Given the description of an element on the screen output the (x, y) to click on. 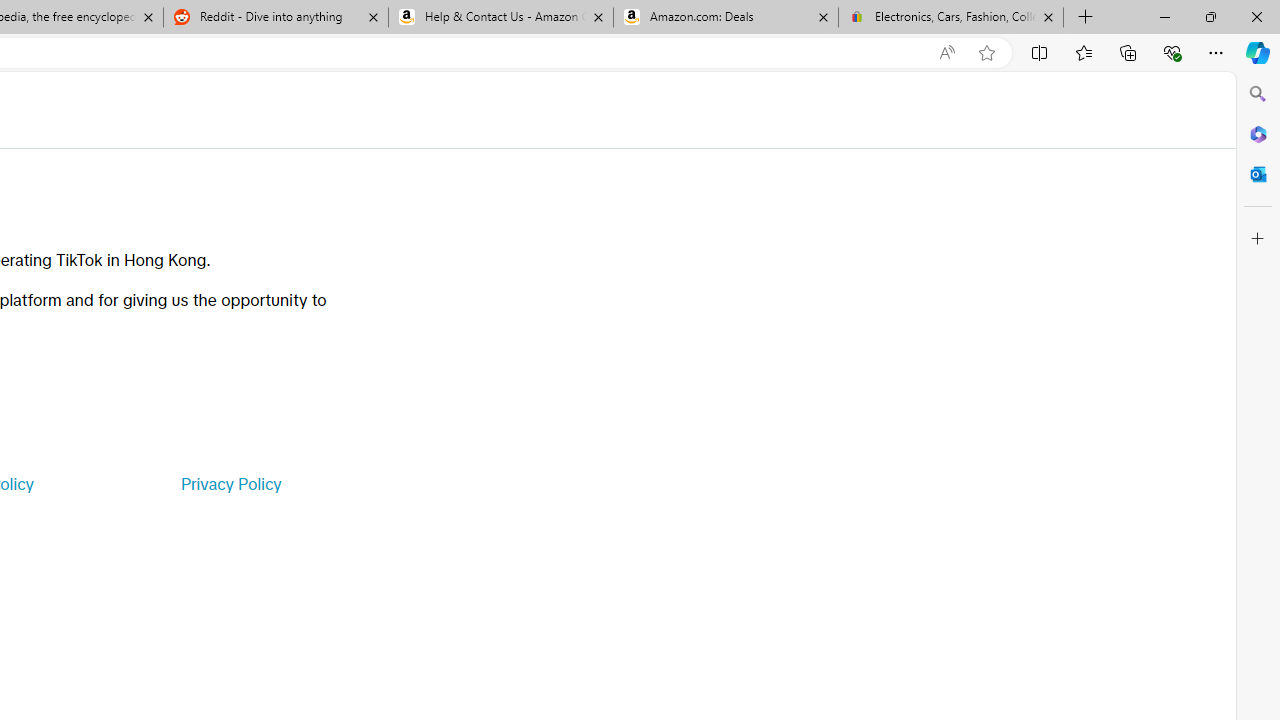
Close Outlook pane (1258, 174)
Customize (1258, 239)
Electronics, Cars, Fashion, Collectibles & More | eBay (950, 17)
